Given the description of an element on the screen output the (x, y) to click on. 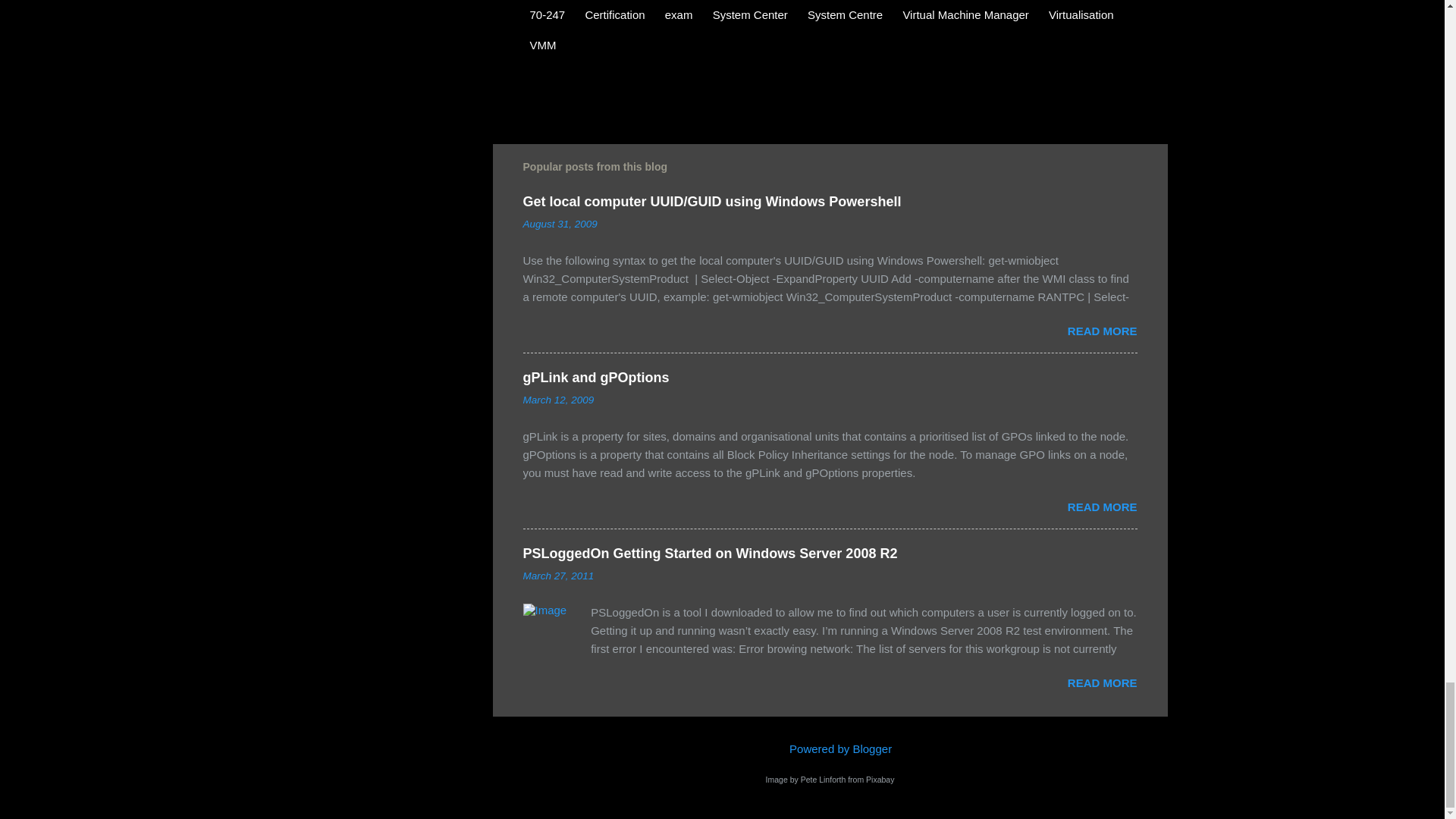
Virtualisation (1081, 14)
exam (679, 14)
VMM (542, 44)
PSLoggedOn Getting Started on Windows Server 2008 R2 (710, 553)
70-247 (547, 14)
Virtual Machine Manager (965, 14)
March 27, 2011 (558, 575)
Certification (614, 14)
READ MORE (1102, 330)
READ MORE (1102, 506)
gPLink and gPOptions (595, 377)
System Centre (844, 14)
System Center (750, 14)
March 12, 2009 (558, 399)
August 31, 2009 (559, 224)
